Given the description of an element on the screen output the (x, y) to click on. 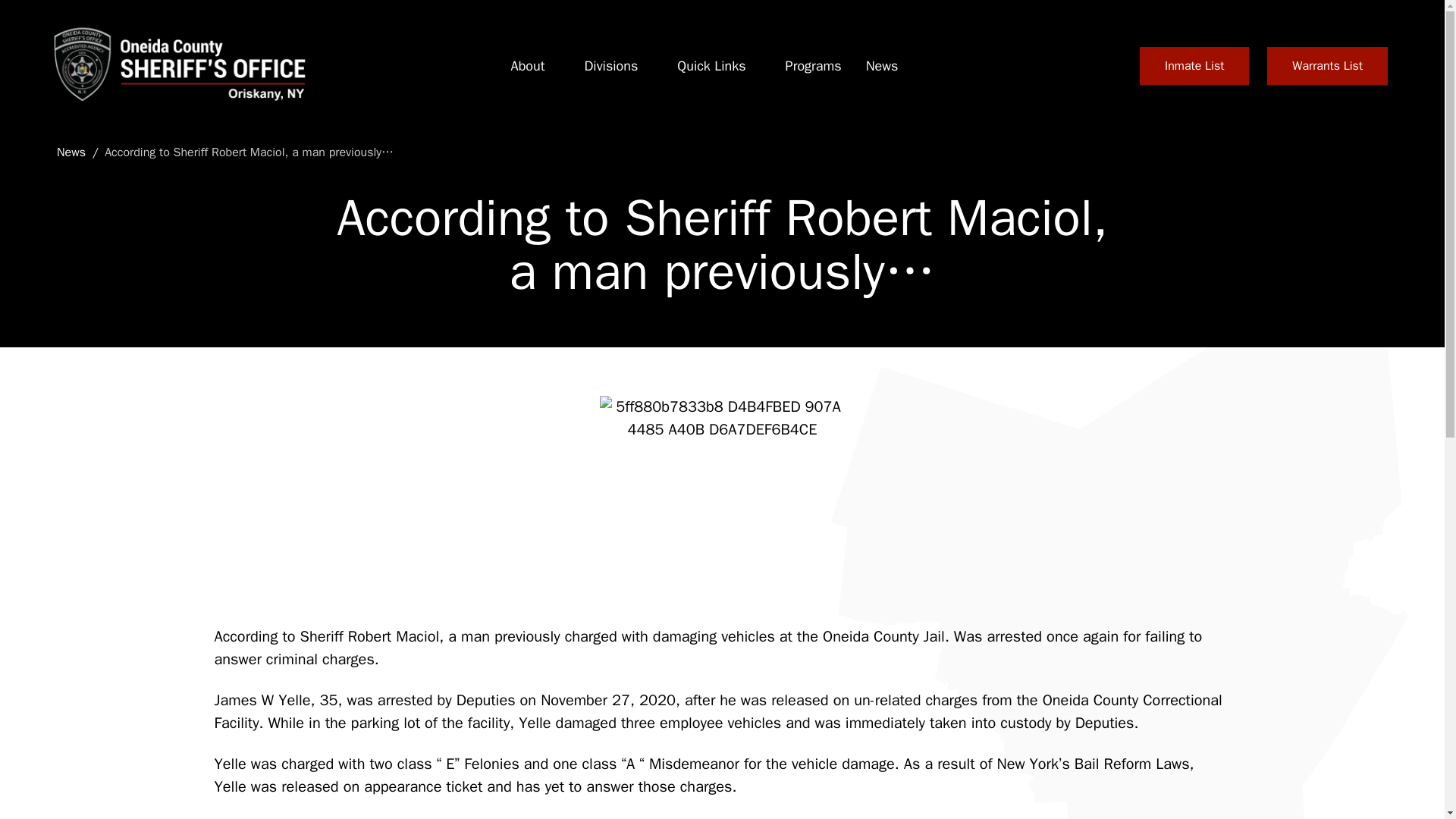
About (527, 65)
Quick Links (711, 65)
Quick Links (711, 65)
Oneida County Sheriff's Office (177, 65)
Divisions (610, 65)
News (882, 65)
Divisions (610, 65)
Inmate List (1194, 65)
About (527, 65)
Programs (813, 65)
